Given the description of an element on the screen output the (x, y) to click on. 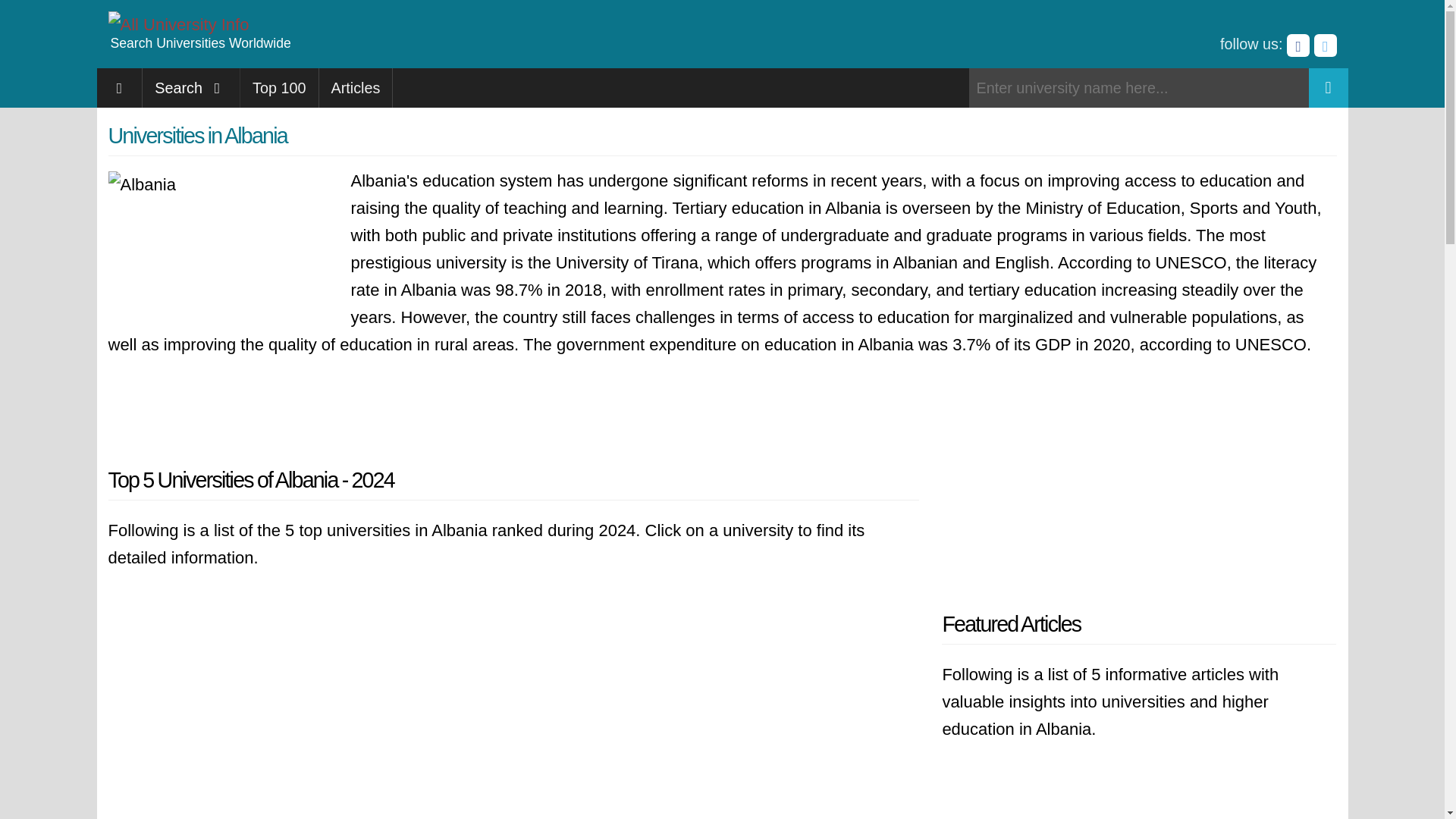
Search University (1328, 87)
Top 100 (279, 87)
Home page (119, 87)
Articles (355, 87)
Albania (220, 246)
alluniversity.info (177, 24)
Facebook page of www.alluniversity.info (1297, 45)
World's Top 100 Universities (279, 87)
Twitter account of www.alluniversity.info (1324, 45)
Search (191, 87)
